Given the description of an element on the screen output the (x, y) to click on. 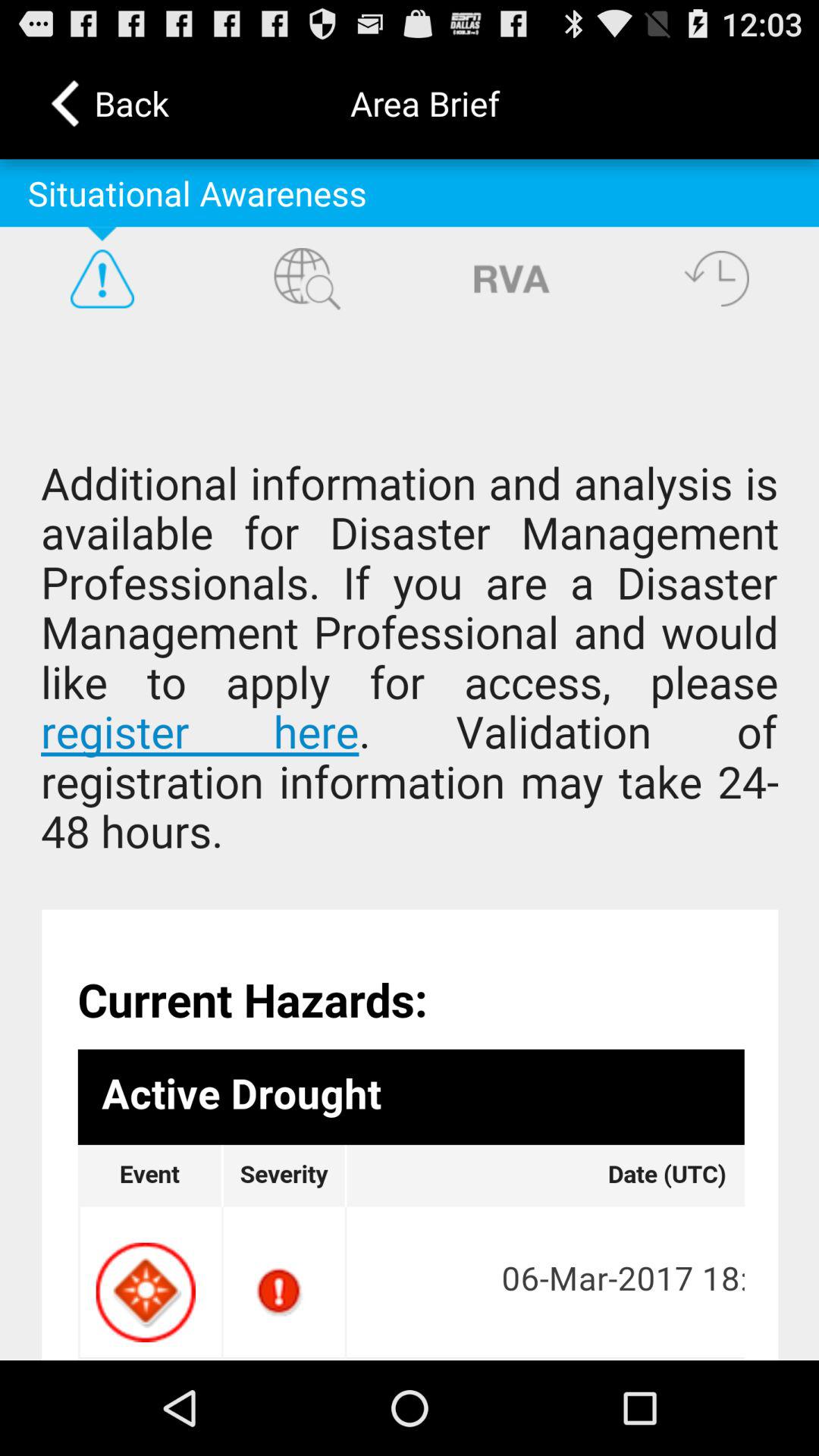
time button (716, 278)
